Given the description of an element on the screen output the (x, y) to click on. 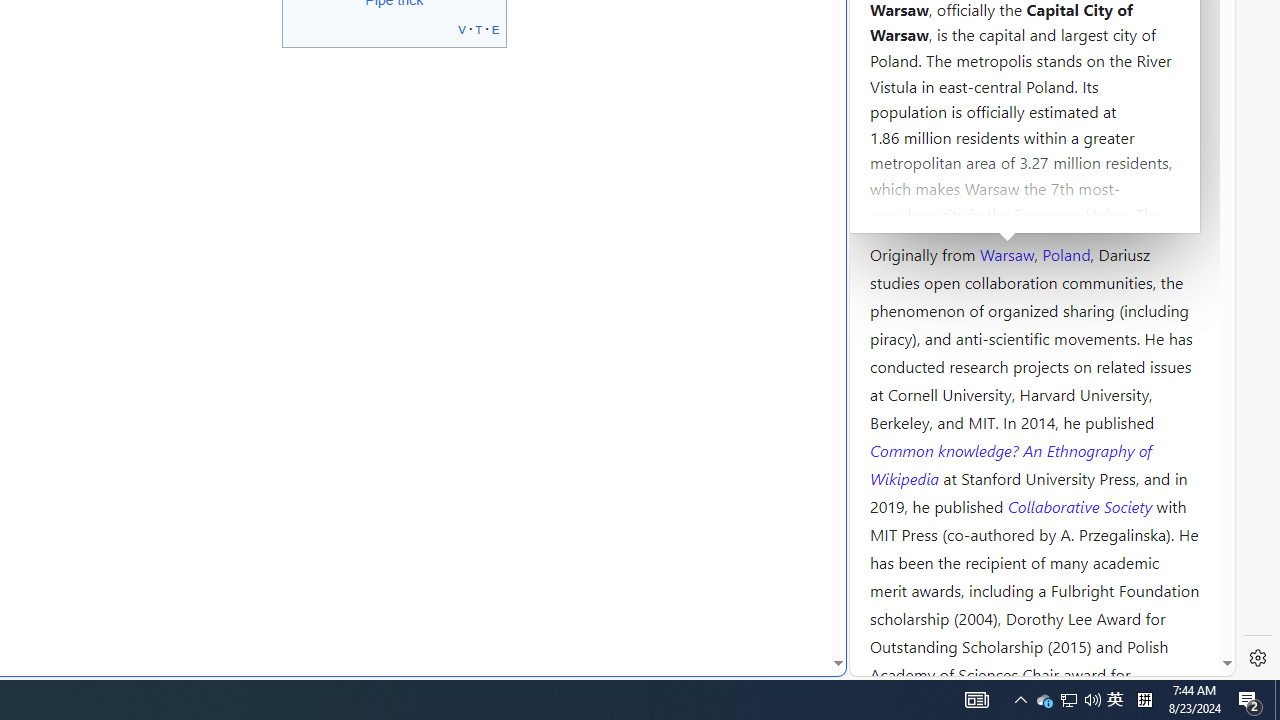
t (478, 28)
